Given the description of an element on the screen output the (x, y) to click on. 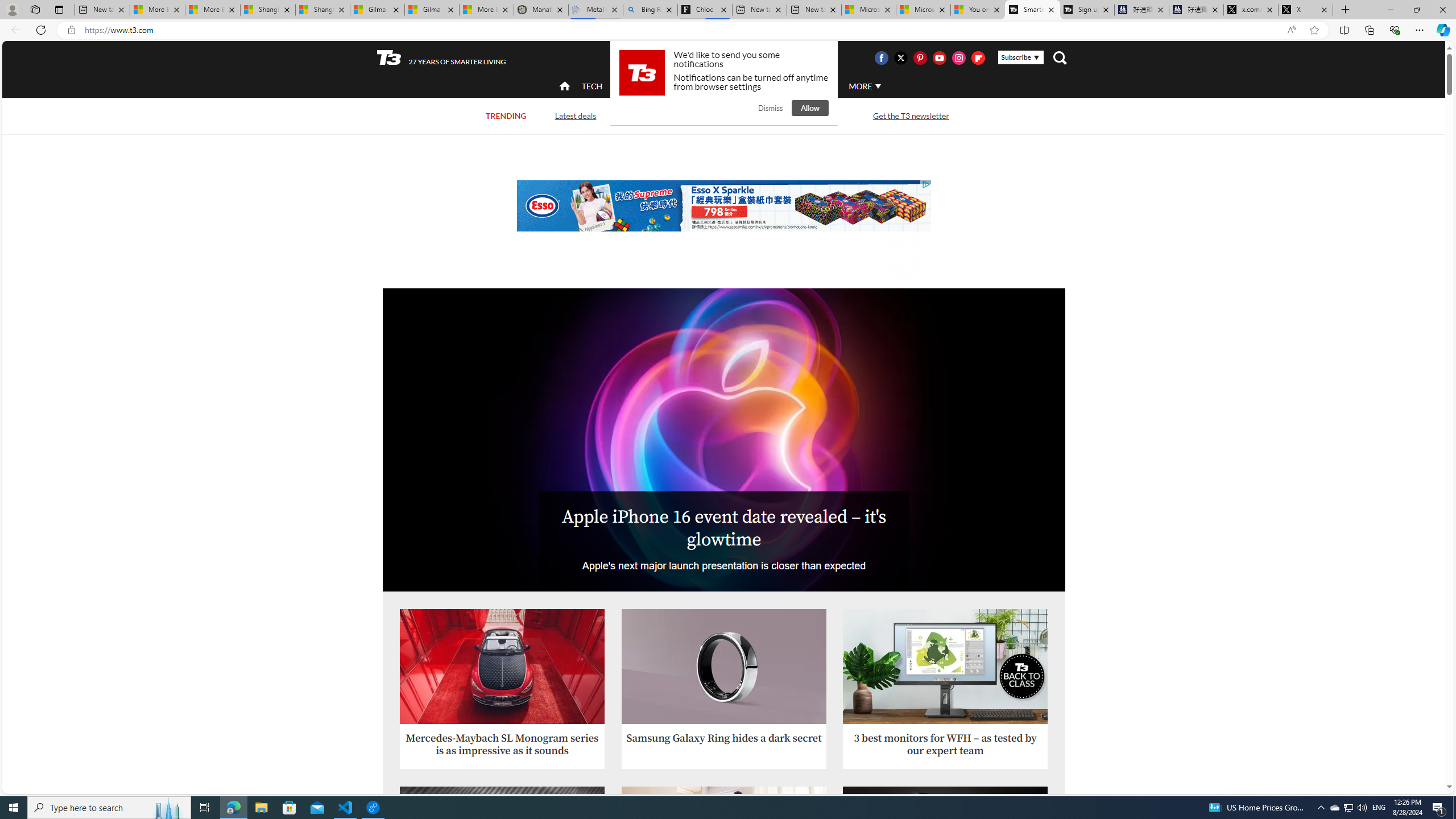
t3.com Logo (641, 72)
